Given the description of an element on the screen output the (x, y) to click on. 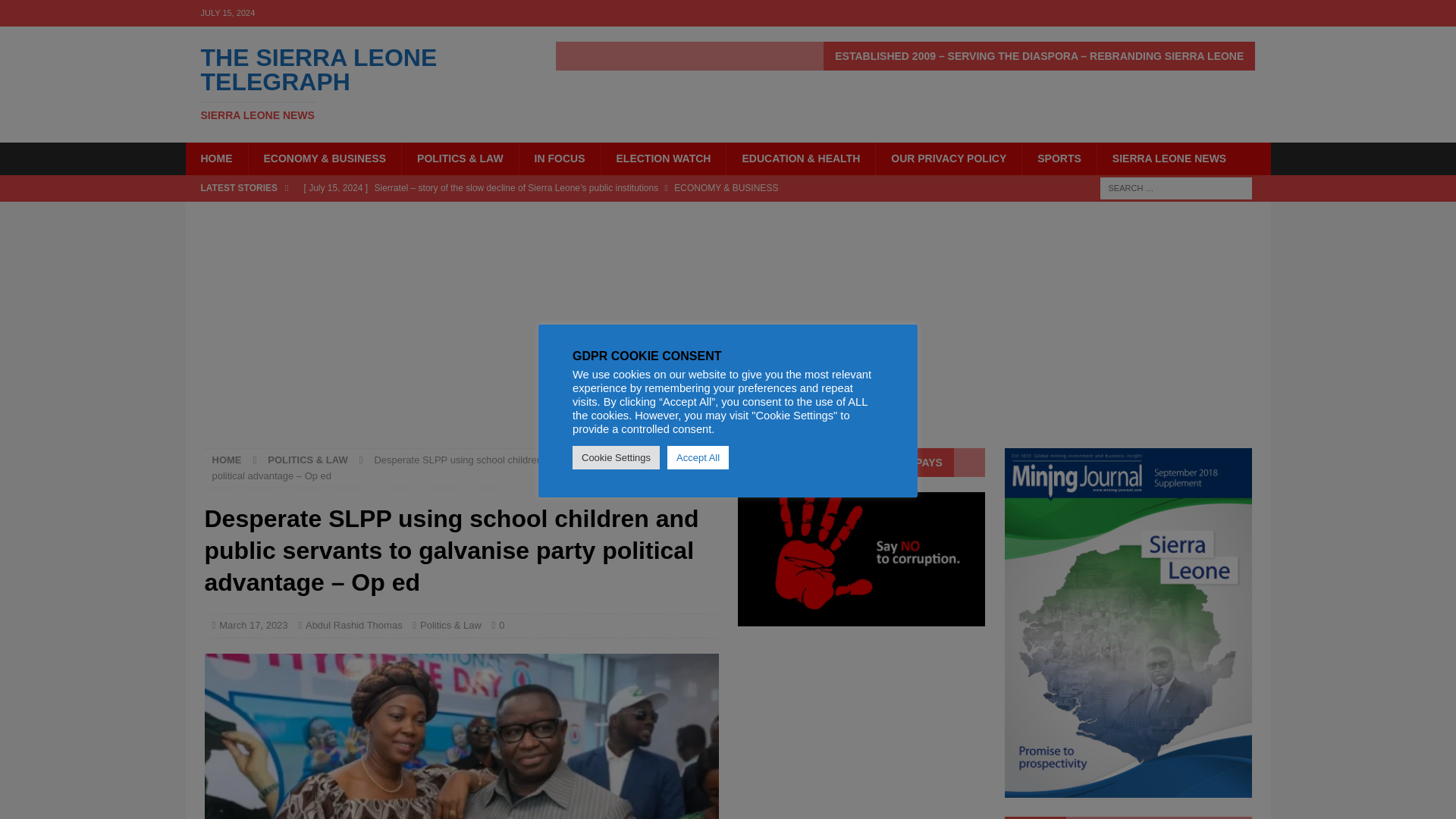
Maada Bio and Mrs Bio - 30 Sept 2022 (462, 736)
March 17, 2023 (252, 624)
OUR PRIVACY POLICY (948, 158)
Abdul Rashid Thomas (354, 624)
Search (56, 11)
The Sierra Leone Telegraph (356, 83)
ELECTION WATCH (662, 158)
SPORTS (356, 83)
IN FOCUS (1059, 158)
0 (558, 158)
SIERRA LEONE NEWS (501, 624)
HOME (1168, 158)
Advertisement (226, 460)
